Given the description of an element on the screen output the (x, y) to click on. 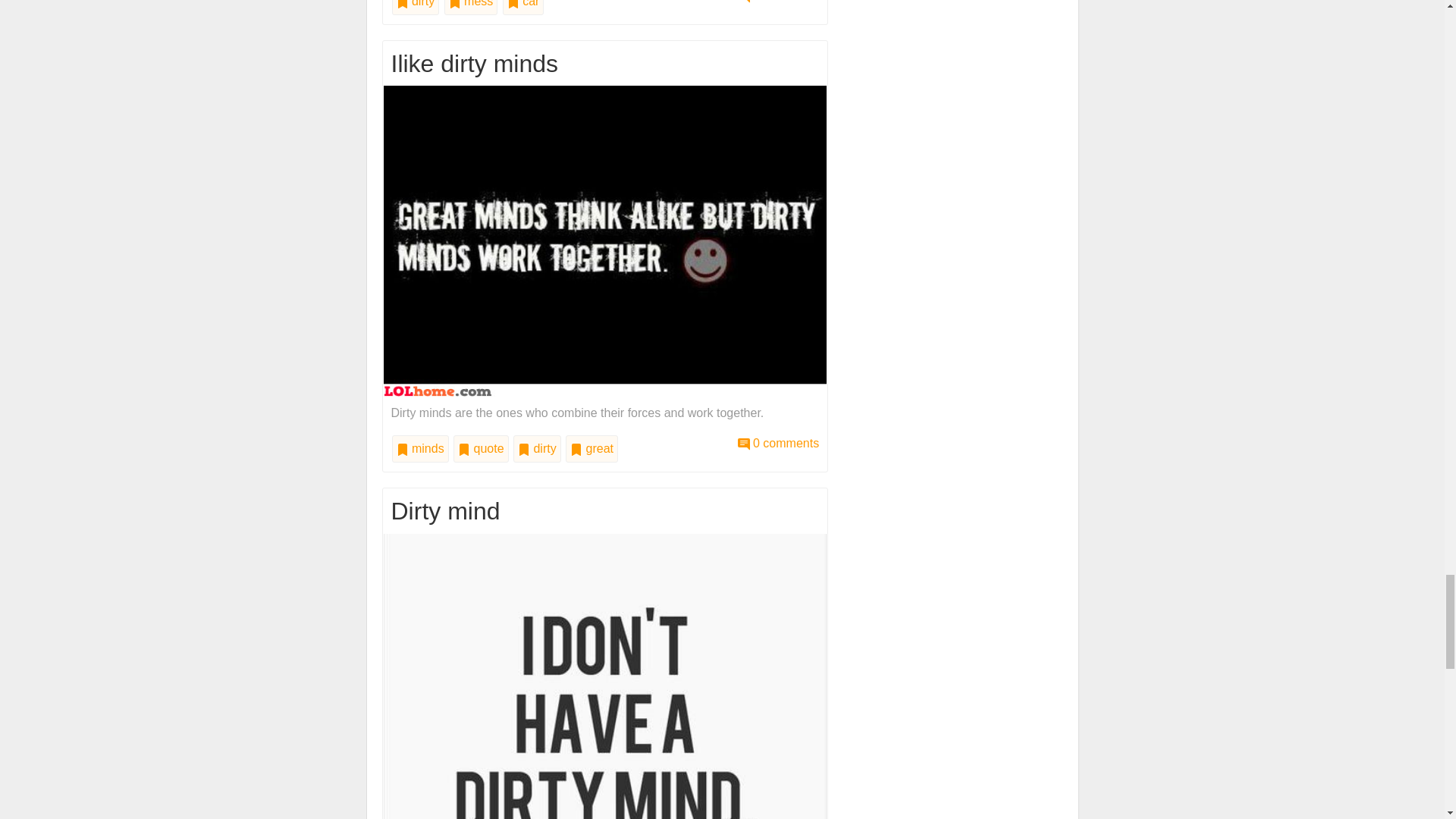
Dirty car (778, 1)
Ilike dirty minds (778, 442)
Ilike dirty minds (605, 240)
